Given the description of an element on the screen output the (x, y) to click on. 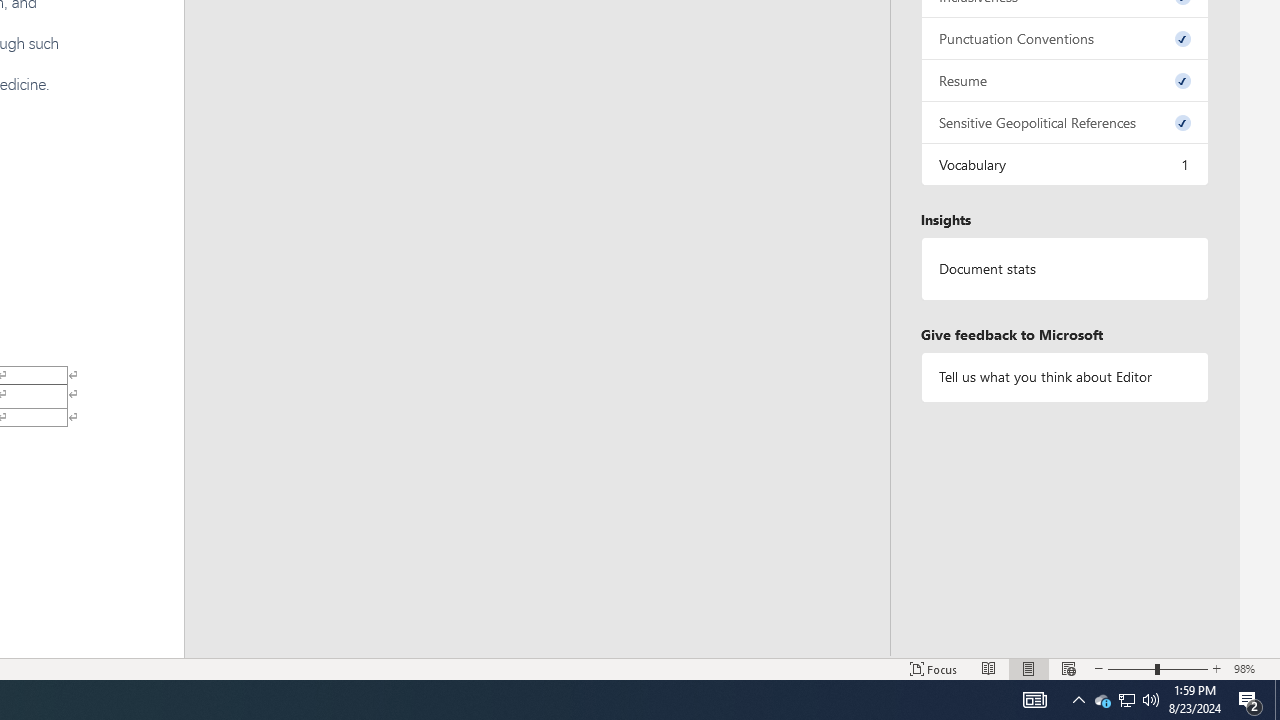
Tell us what you think about Editor (1064, 376)
Document statistics (1064, 269)
Resume, 0 issues. Press space or enter to review items. (1064, 79)
Vocabulary, 1 issue. Press space or enter to review items. (1064, 164)
